Given the description of an element on the screen output the (x, y) to click on. 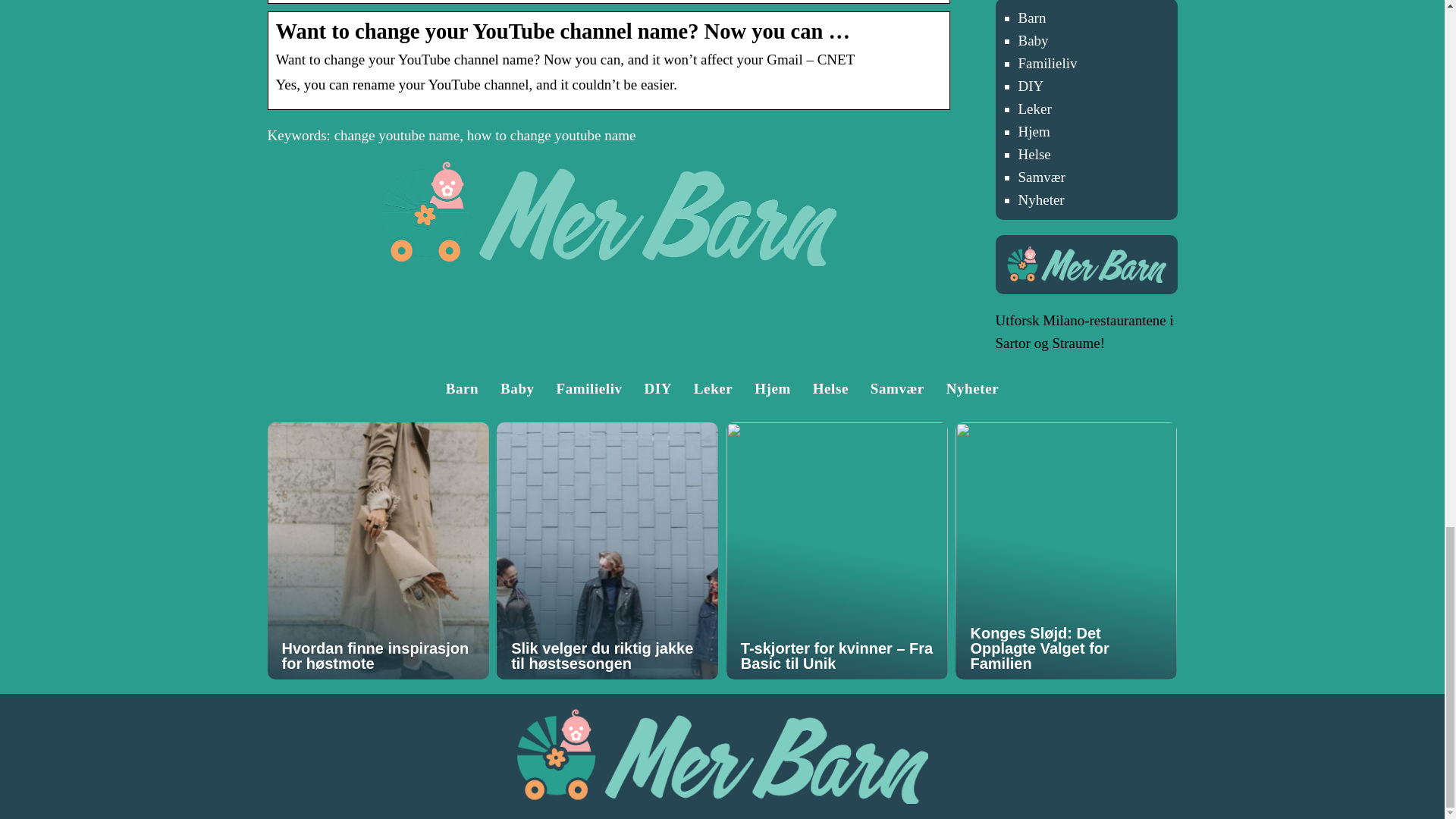
Hjem (772, 388)
Familieliv (1047, 63)
Familieliv (588, 388)
Barn (462, 388)
Leker (1034, 108)
Nyheter (1040, 199)
Utforsk Milano-restaurantene i Sartor og Straume! (1083, 331)
Baby (1032, 40)
Helse (830, 388)
Leker (713, 388)
